Given the description of an element on the screen output the (x, y) to click on. 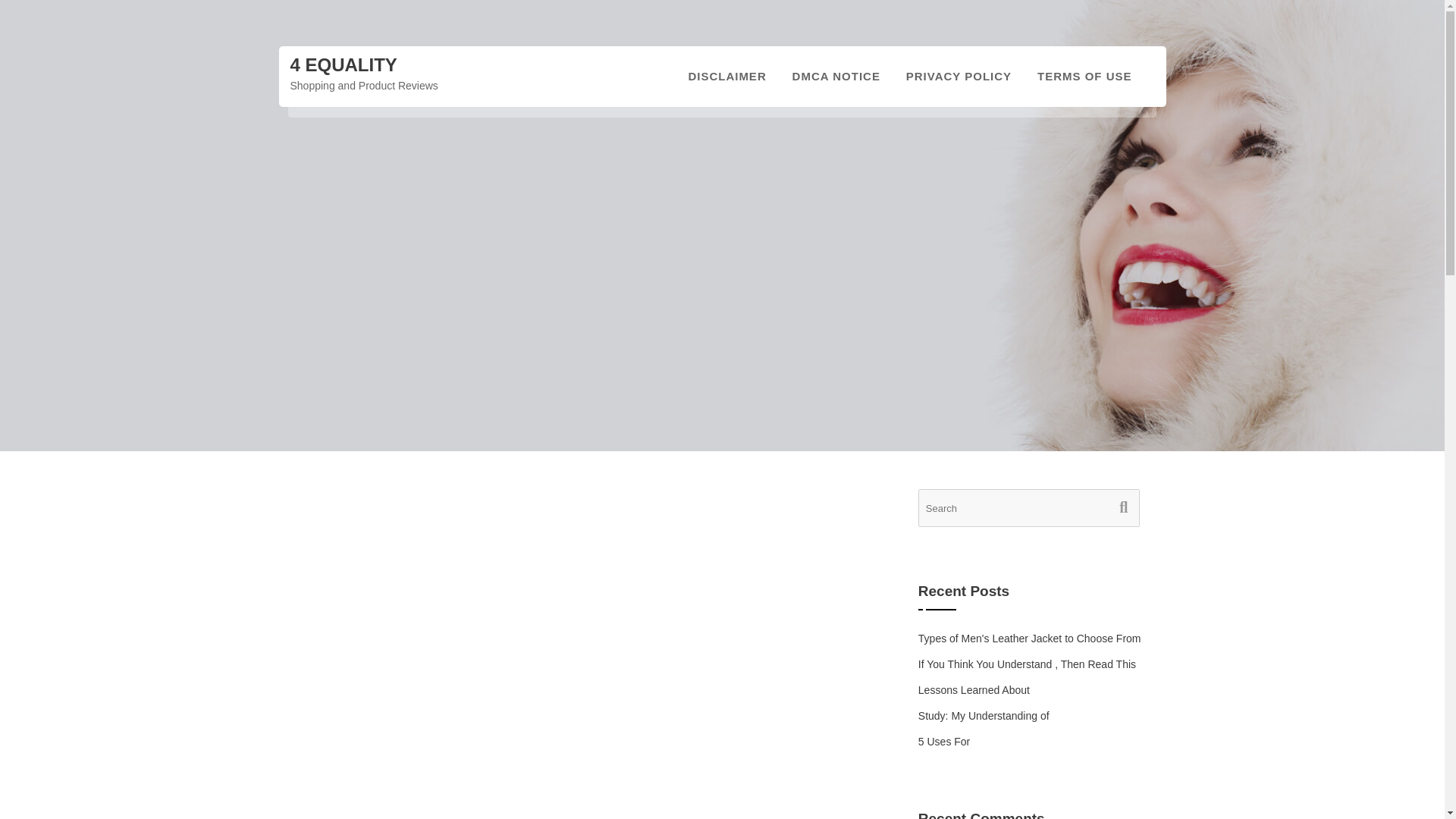
5 Uses For (943, 741)
Study: My Understanding of (983, 715)
If You Think You Understand , Then Read This (1026, 664)
PRIVACY POLICY (959, 76)
4 EQUALITY (342, 64)
Lessons Learned About (973, 689)
Types of Men's Leather Jacket to Choose From (1029, 638)
TERMS OF USE (1084, 76)
DMCA NOTICE (835, 76)
4 Equality (342, 64)
